Given the description of an element on the screen output the (x, y) to click on. 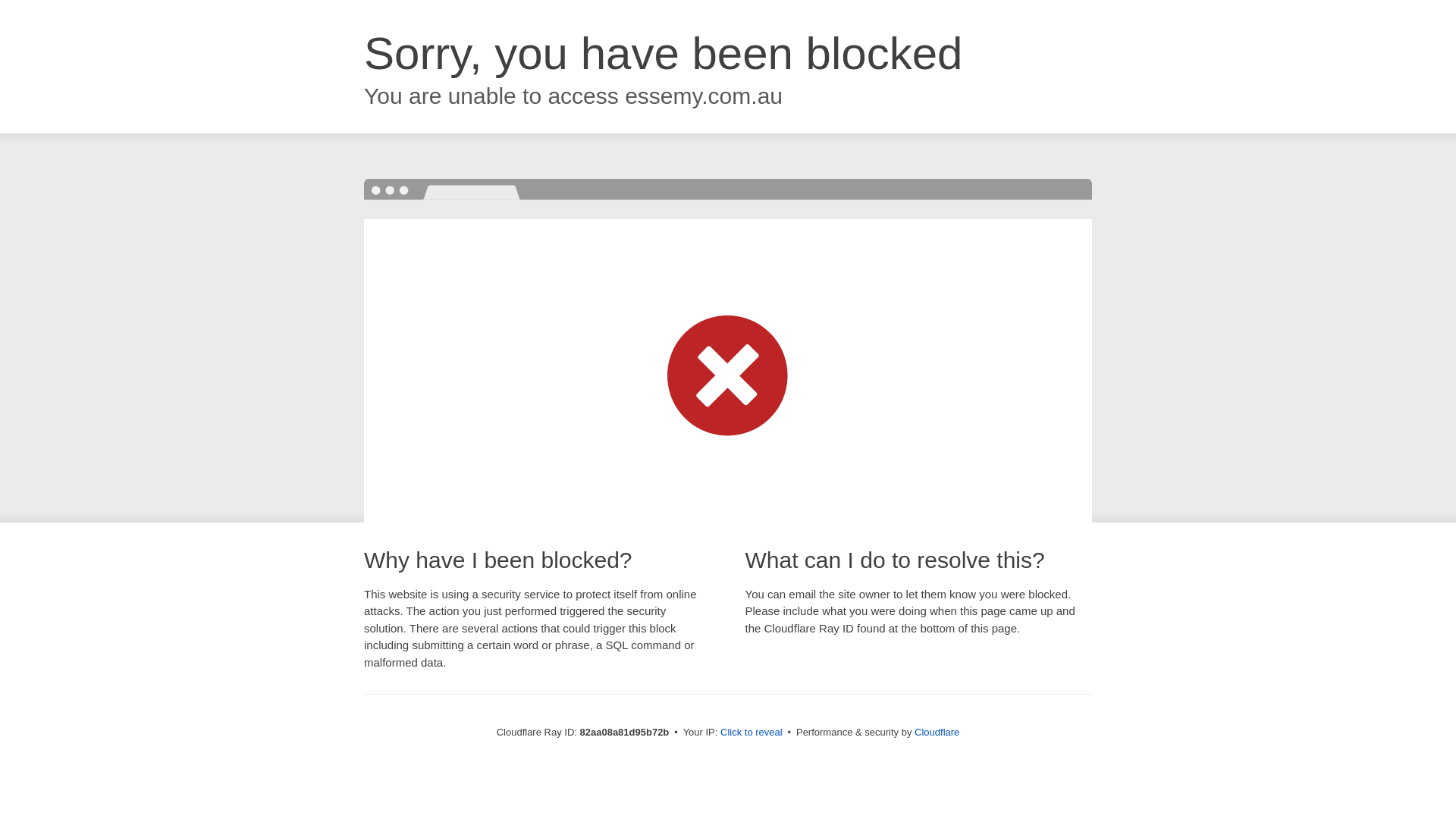
Cloudflare Element type: text (936, 731)
Click to reveal Element type: text (751, 732)
